Given the description of an element on the screen output the (x, y) to click on. 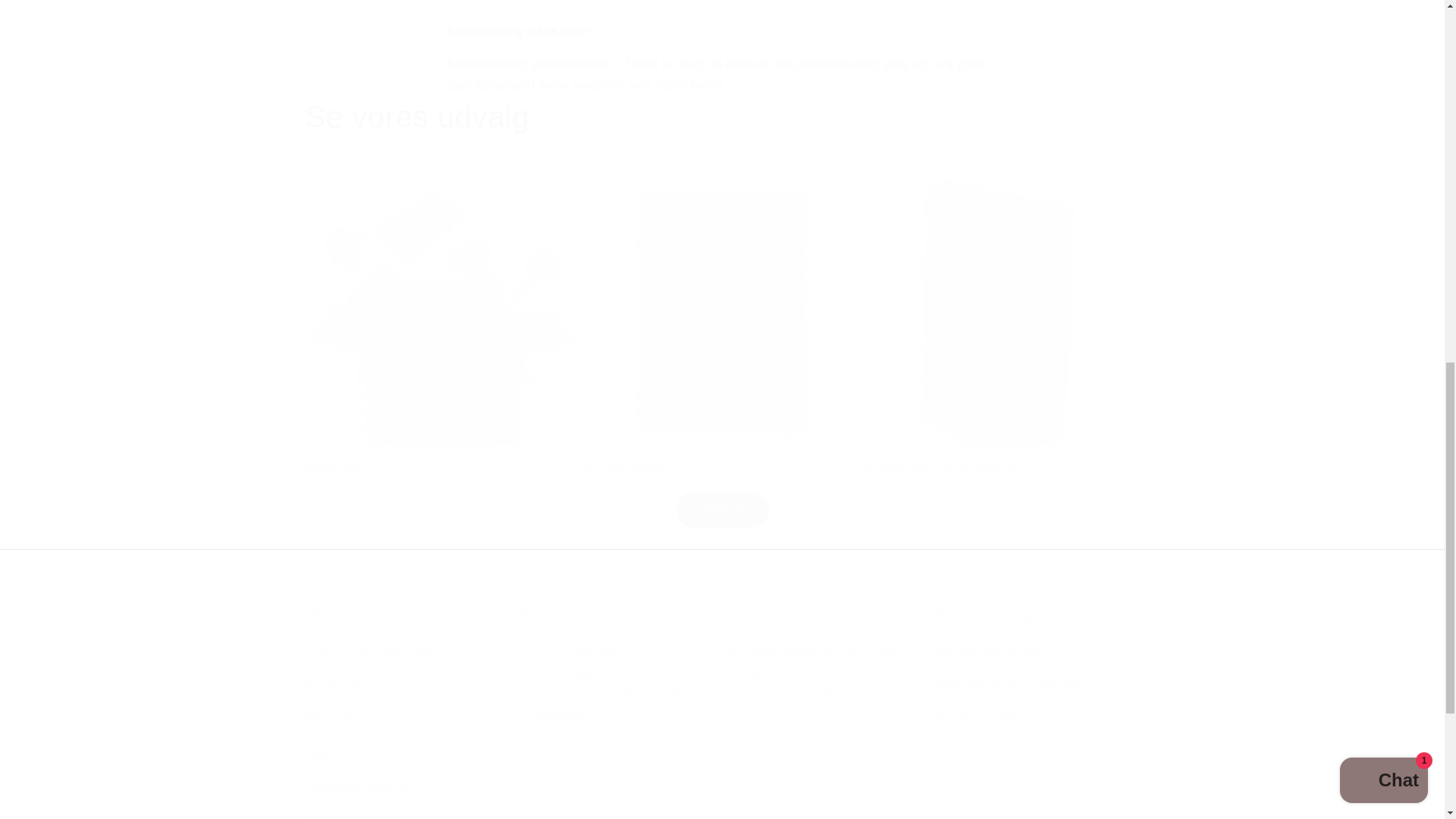
Se vores udvalg (416, 116)
Terms of Service (991, 649)
Privacy Policy (979, 717)
View all (721, 509)
